Given the description of an element on the screen output the (x, y) to click on. 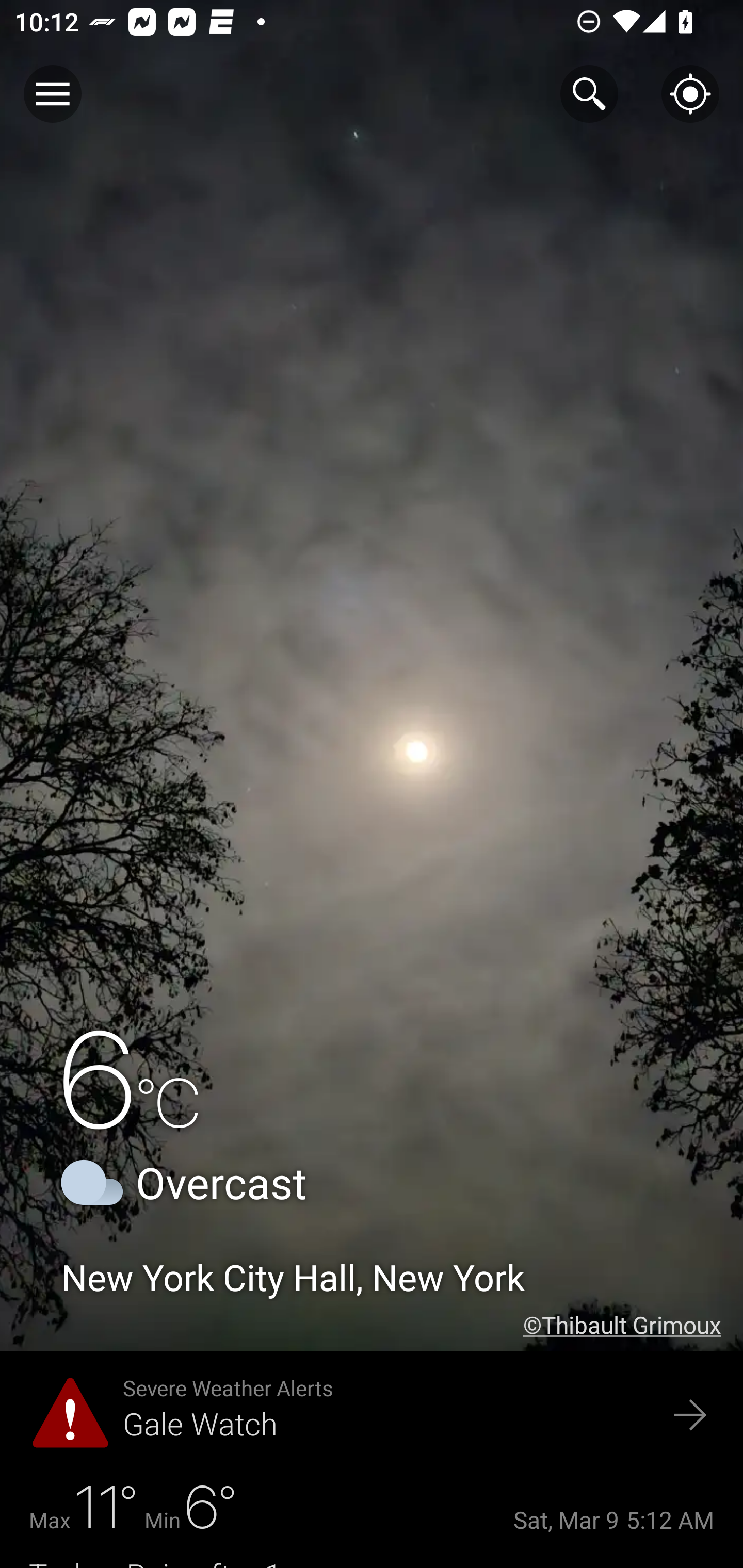
©Thibault Grimoux (633, 1324)
Severe Weather Alerts Gale Watch  (371, 1416)
